Given the description of an element on the screen output the (x, y) to click on. 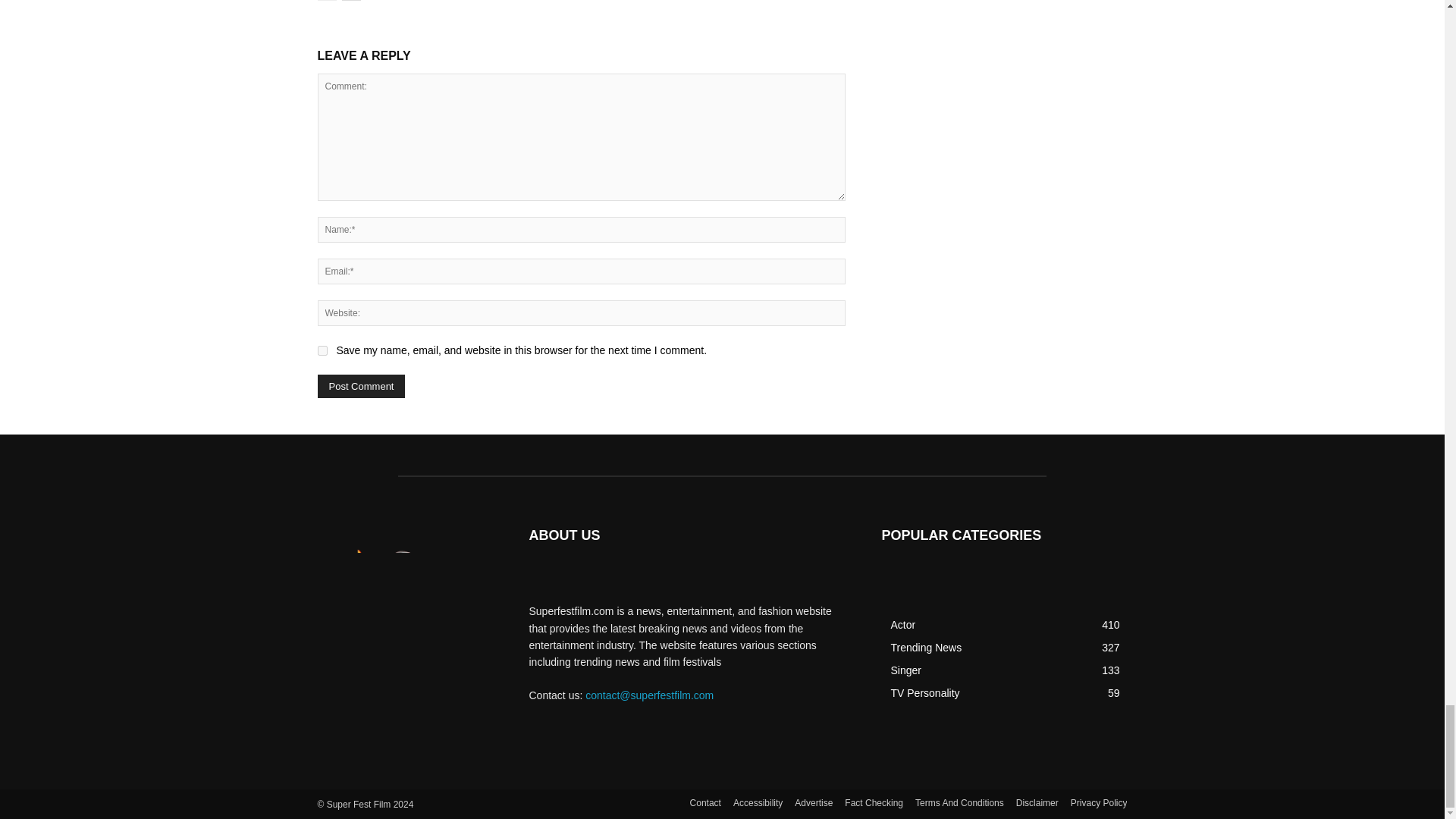
Post Comment (360, 386)
yes (321, 350)
